Given the description of an element on the screen output the (x, y) to click on. 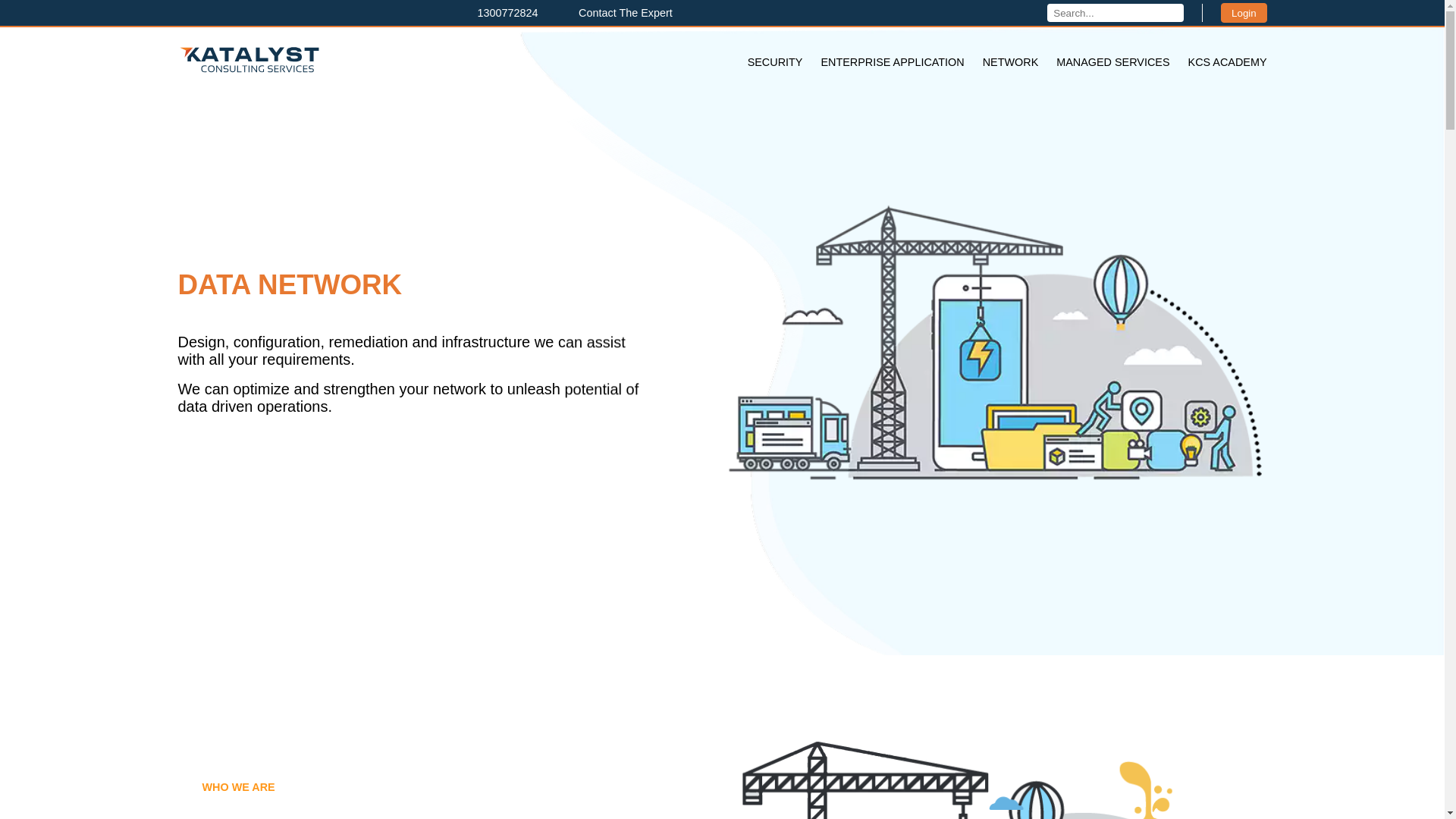
MANAGED SERVICES Element type: text (1112, 62)
ENTERPRISE APPLICATION Element type: text (891, 62)
SECURITY Element type: text (775, 62)
1300772824 Element type: text (499, 12)
Contact The Expert Element type: text (617, 12)
Login Element type: text (1243, 12)
KCS ACADEMY Element type: text (1227, 62)
NETWORK Element type: text (1010, 62)
